Given the description of an element on the screen output the (x, y) to click on. 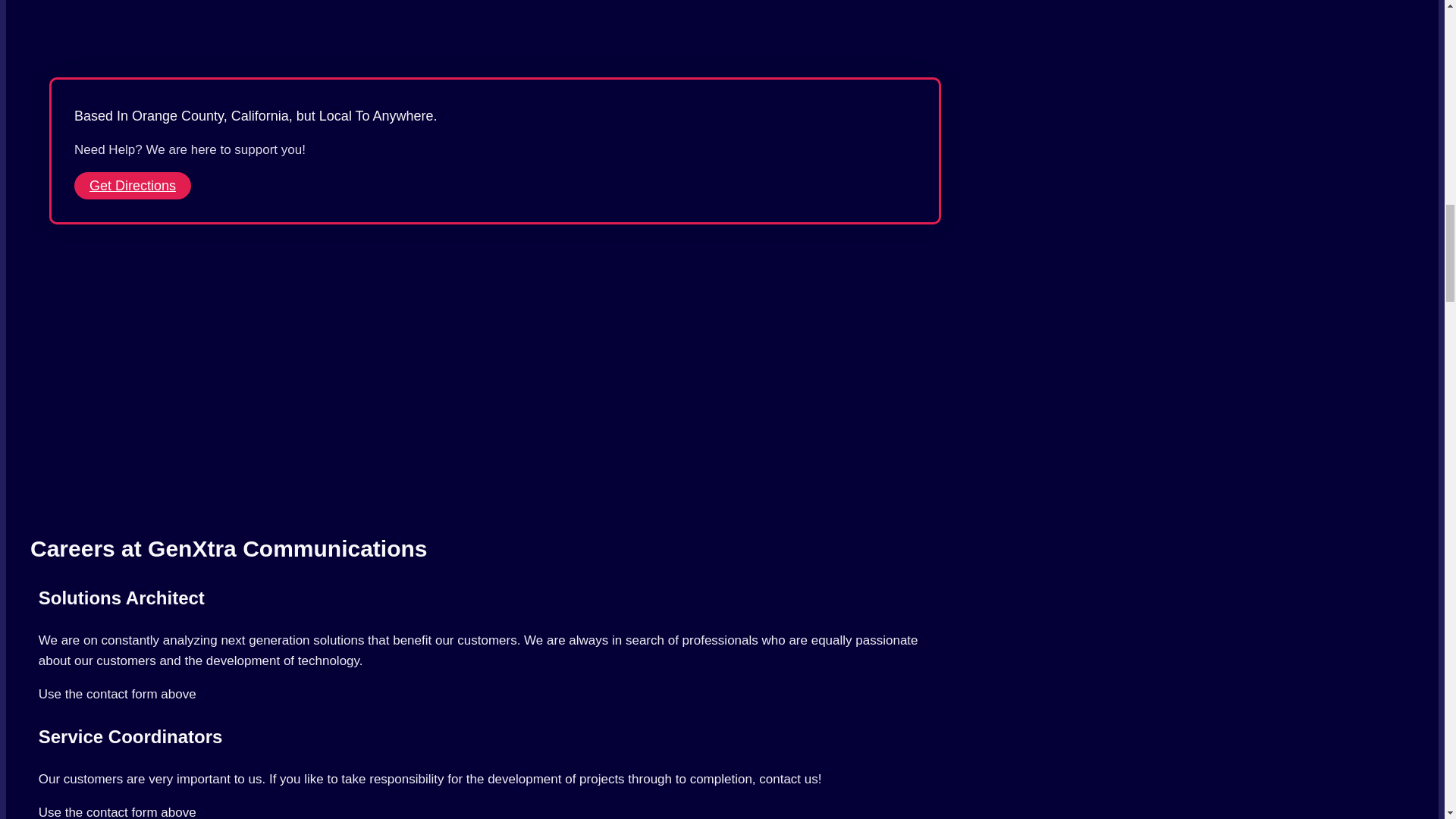
Get Directions (132, 185)
